Given the description of an element on the screen output the (x, y) to click on. 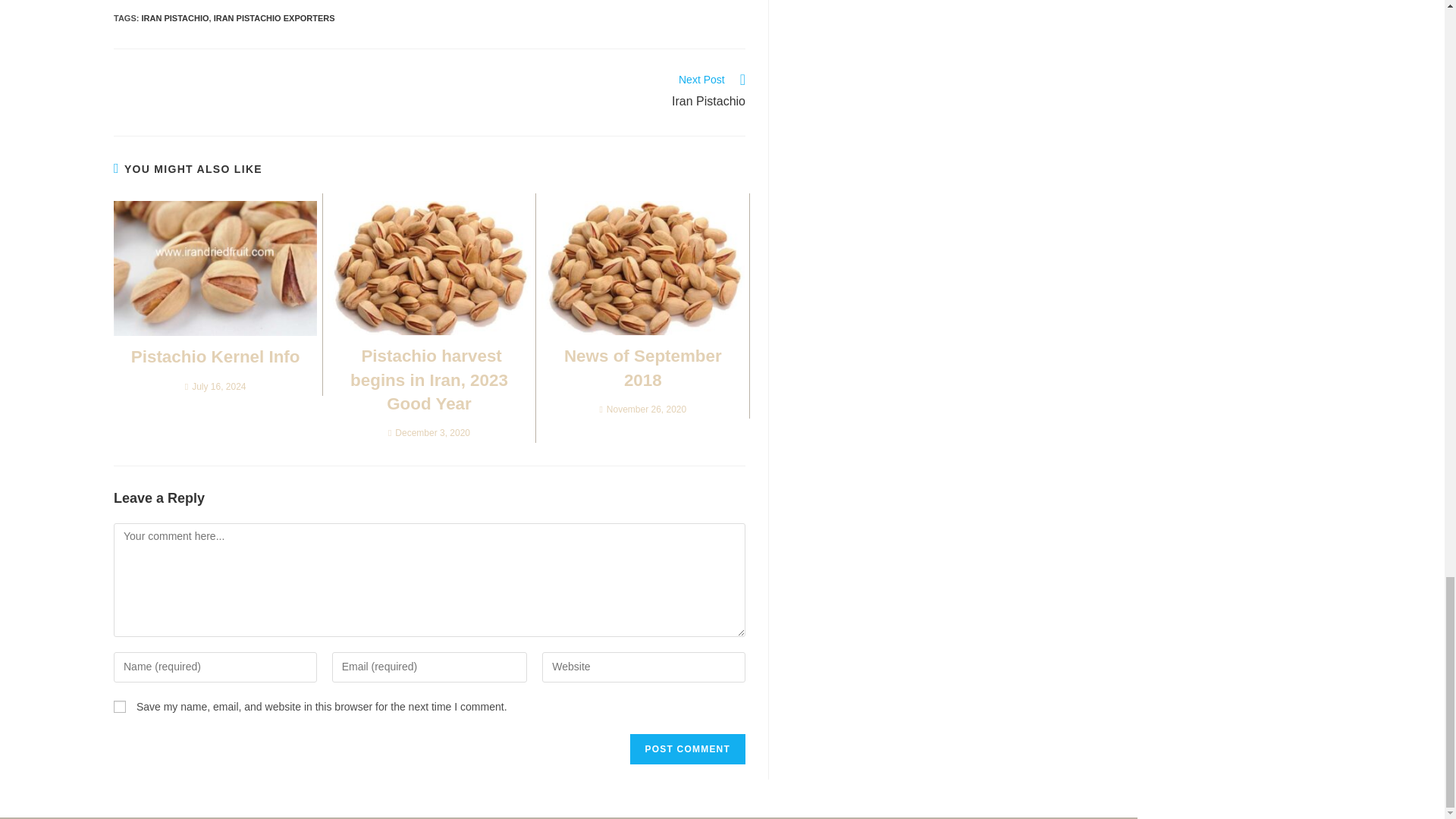
Pistachio Kernel Info (214, 356)
Post Comment (687, 748)
News of September 2018 (642, 367)
Pistachio Kernel Info (214, 356)
IRAN PISTACHIO EXPORTERS (274, 17)
News of September 2018 (642, 367)
yes (594, 92)
IRAN PISTACHIO (119, 706)
 Pistachio harvest begins in Iran, 2023 Good Year (174, 17)
